Given the description of an element on the screen output the (x, y) to click on. 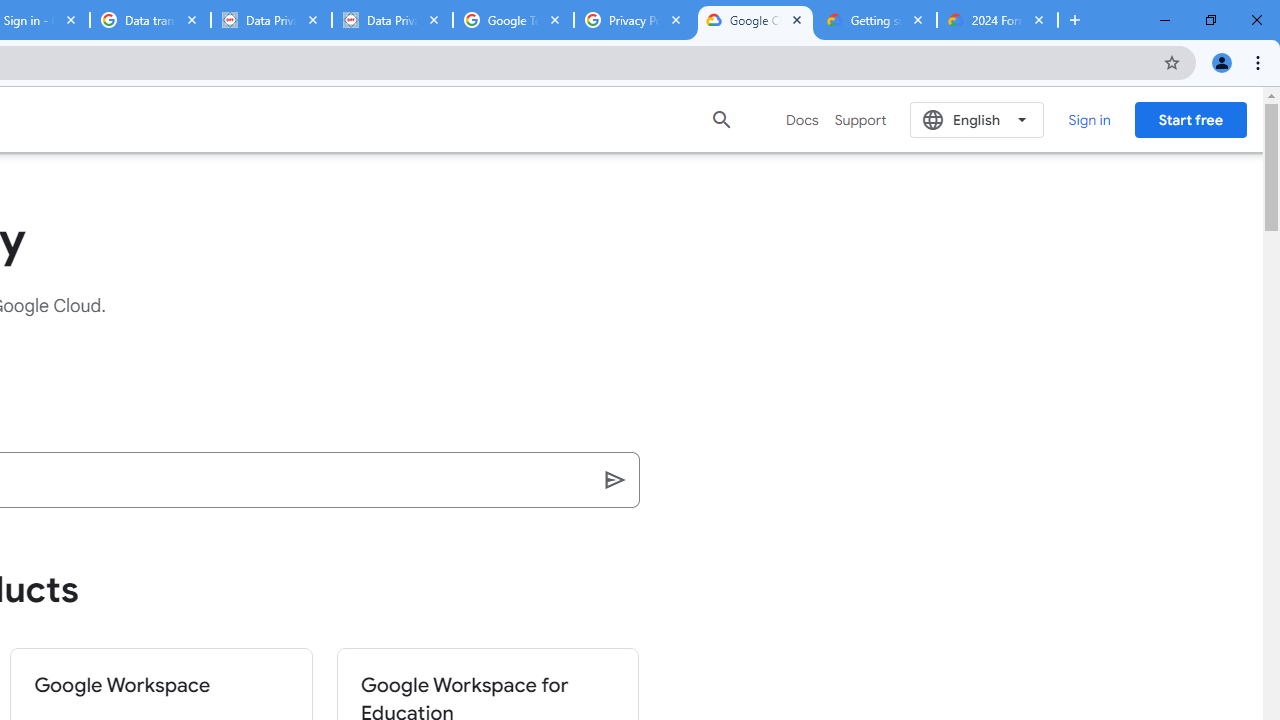
Search (615, 479)
Sign in (1088, 119)
Support (860, 119)
Chrome (1260, 62)
You (1221, 62)
Bookmark this tab (1171, 62)
Data Privacy Framework (271, 20)
